Given the description of an element on the screen output the (x, y) to click on. 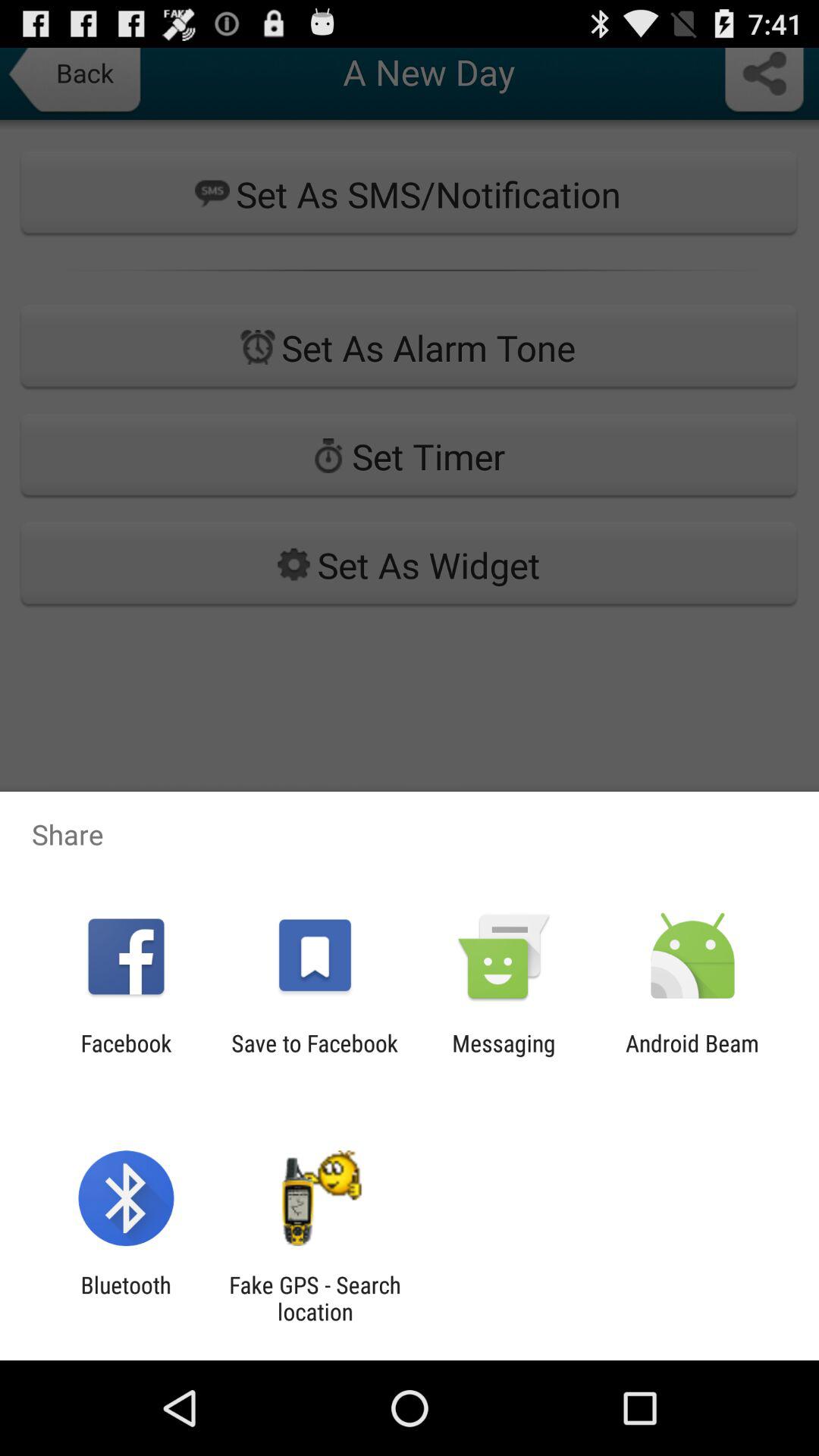
click the app to the left of messaging app (314, 1056)
